Given the description of an element on the screen output the (x, y) to click on. 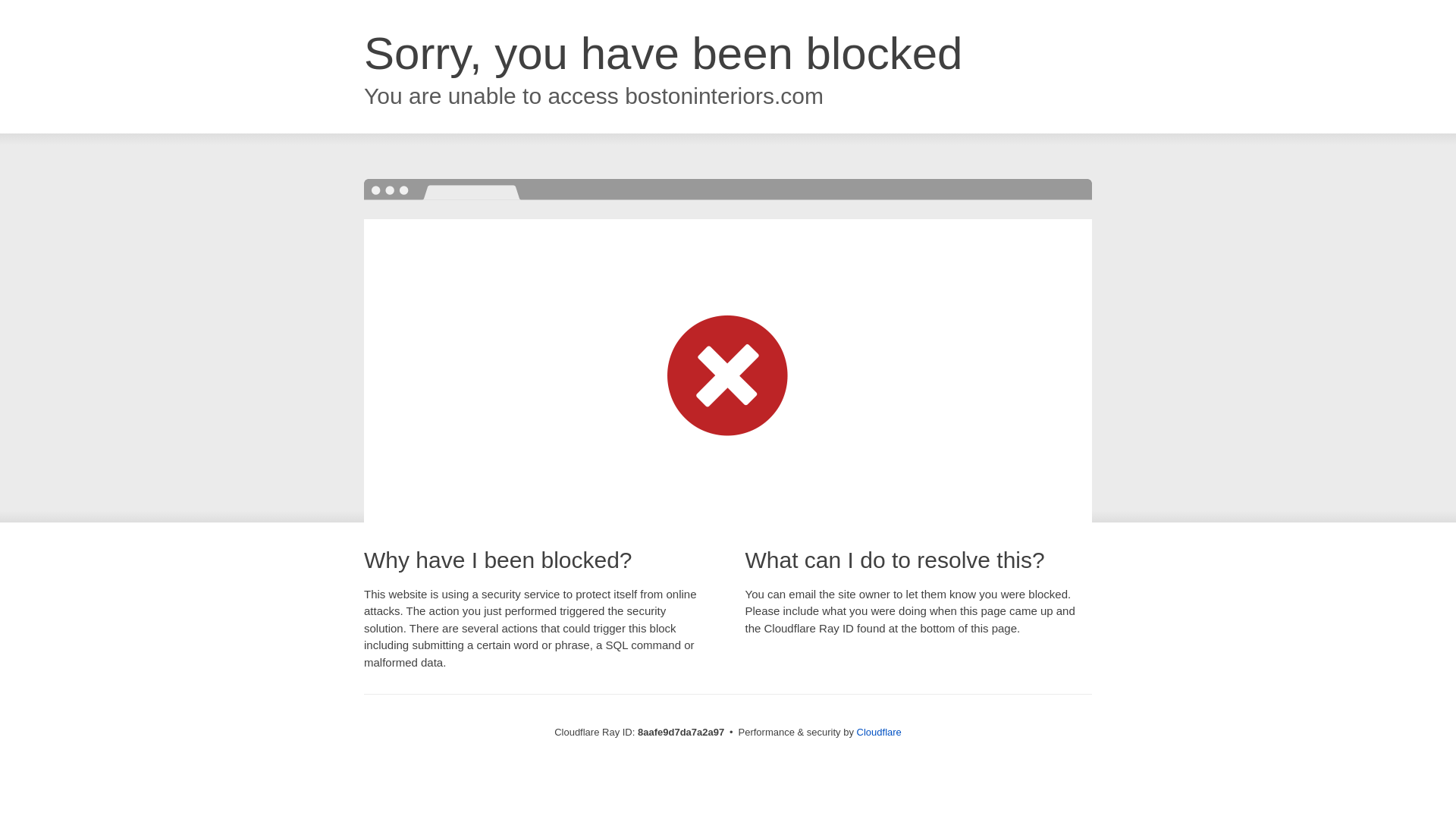
Cloudflare (879, 731)
